Given the description of an element on the screen output the (x, y) to click on. 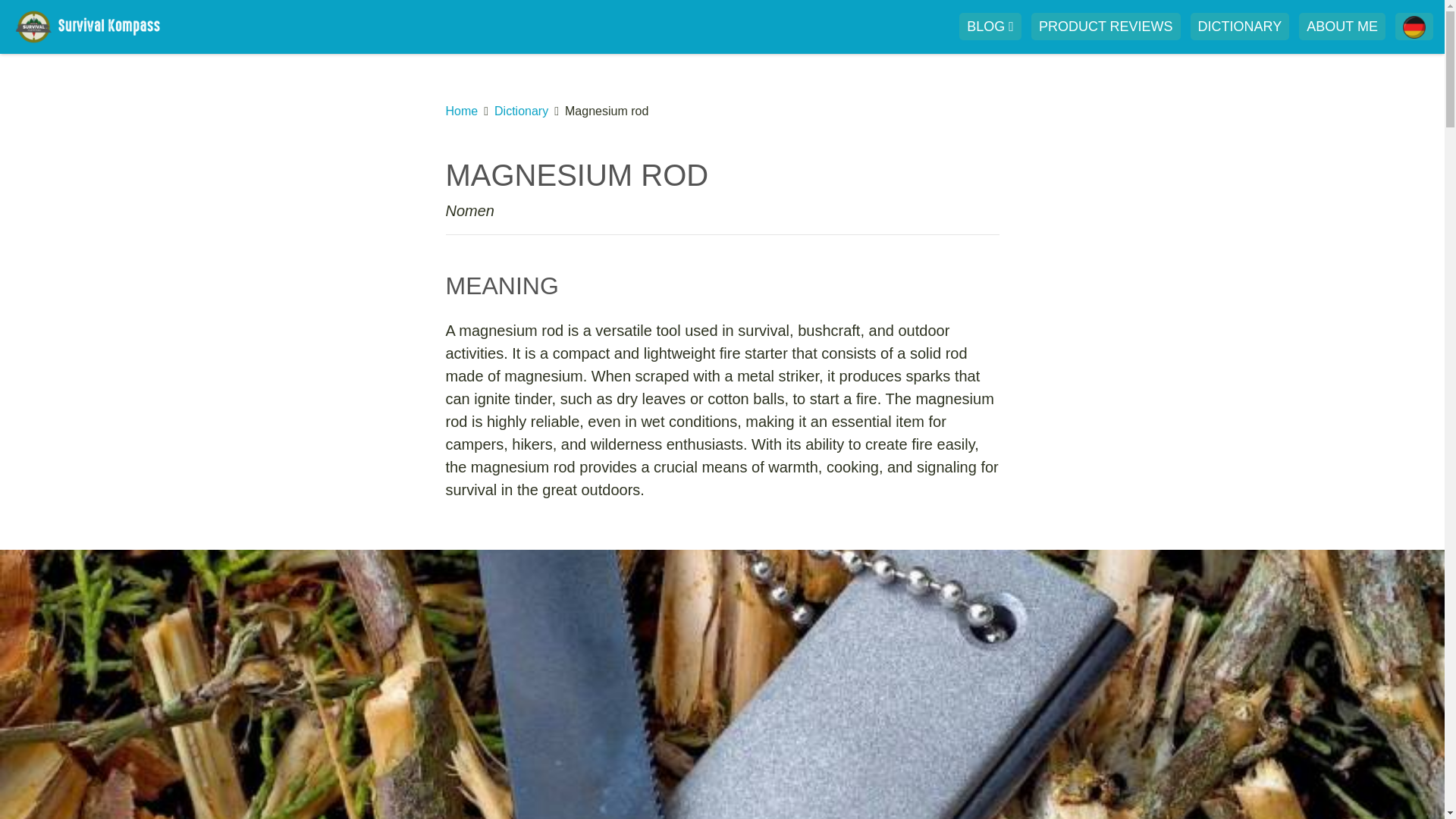
Survival-Kompass.de Startsite (98, 26)
Startsite (98, 25)
Home (462, 110)
BLOG (990, 26)
DICTIONARY (1240, 26)
Outdoor Gear Product Reviews (1105, 26)
Survival Outdoor Dictionary (1240, 26)
PRODUCT REVIEWS (1105, 26)
About me (1342, 26)
Dictionary (521, 110)
ABOUT ME (1342, 26)
